Given the description of an element on the screen output the (x, y) to click on. 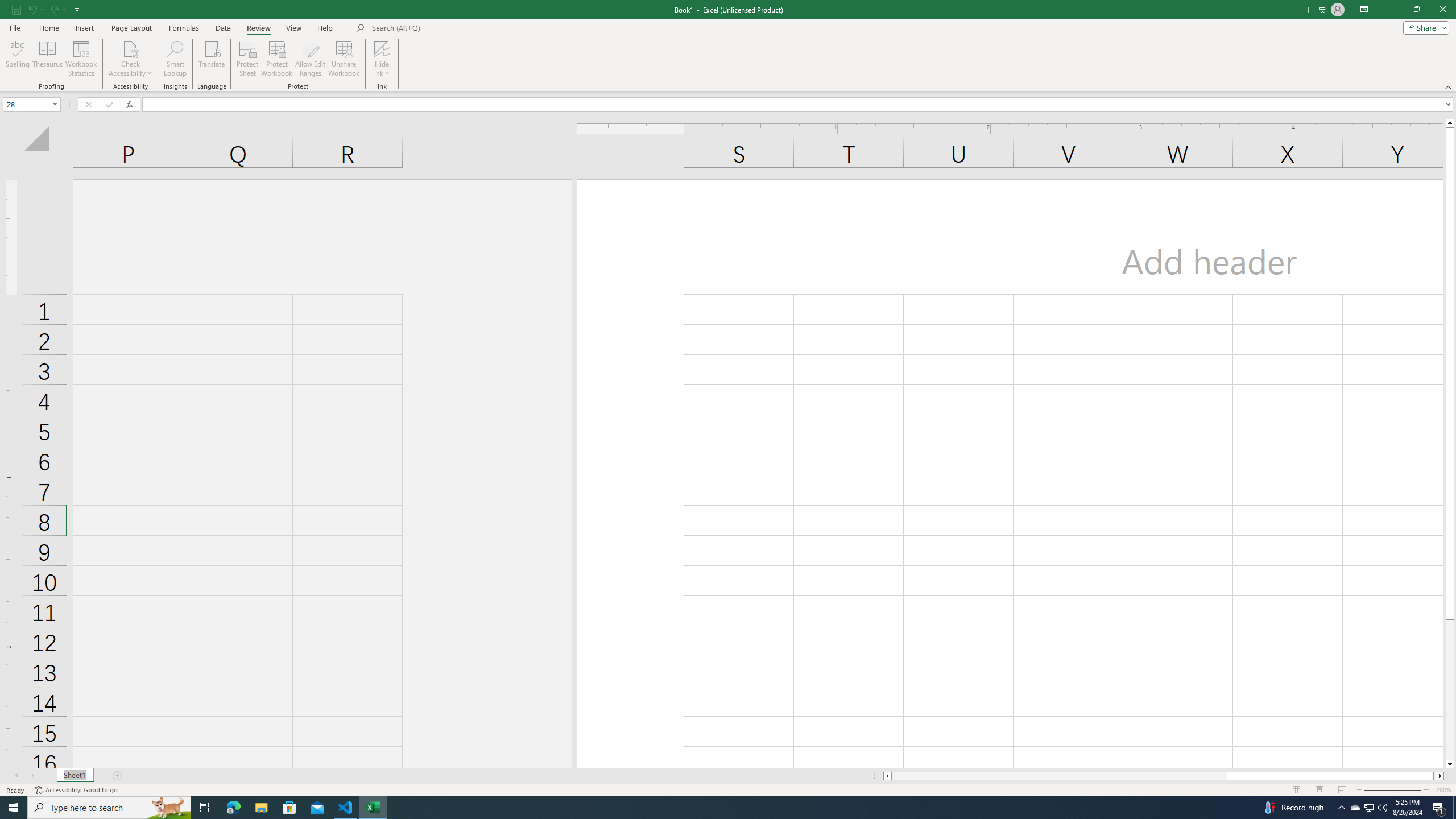
Review (258, 28)
More Options (381, 68)
Save (16, 9)
Insert (83, 28)
Collapse the Ribbon (1448, 86)
Page Break Preview (1342, 790)
Class: NetUIScrollBar (1163, 775)
Line down (1449, 764)
Spelling... (17, 58)
Unshare Workbook (344, 58)
Protect Workbook... (277, 58)
